Given the description of an element on the screen output the (x, y) to click on. 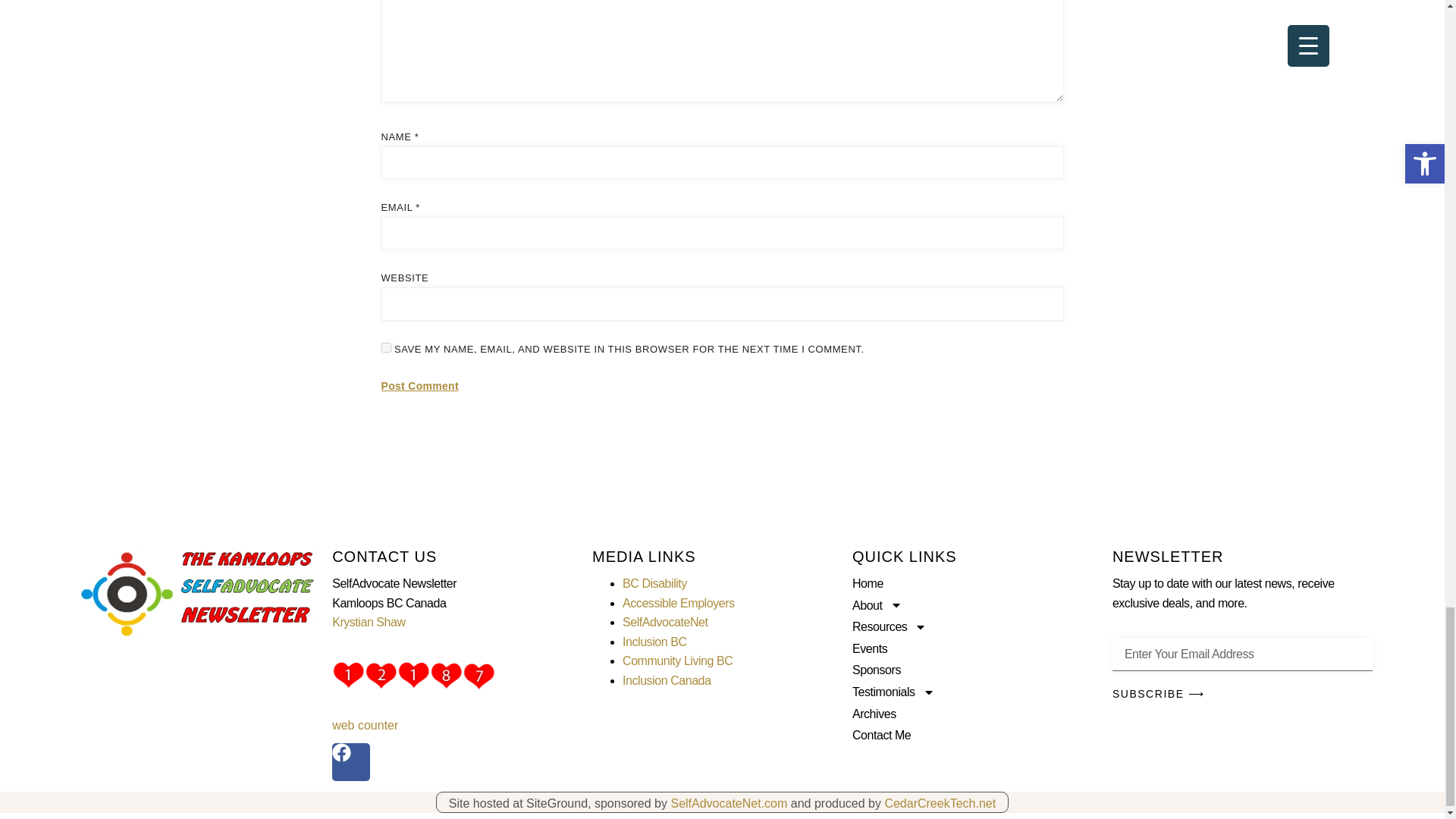
yes (385, 347)
Click to see detail of visits and stats for this site (413, 674)
Post Comment (419, 386)
